Given the description of an element on the screen output the (x, y) to click on. 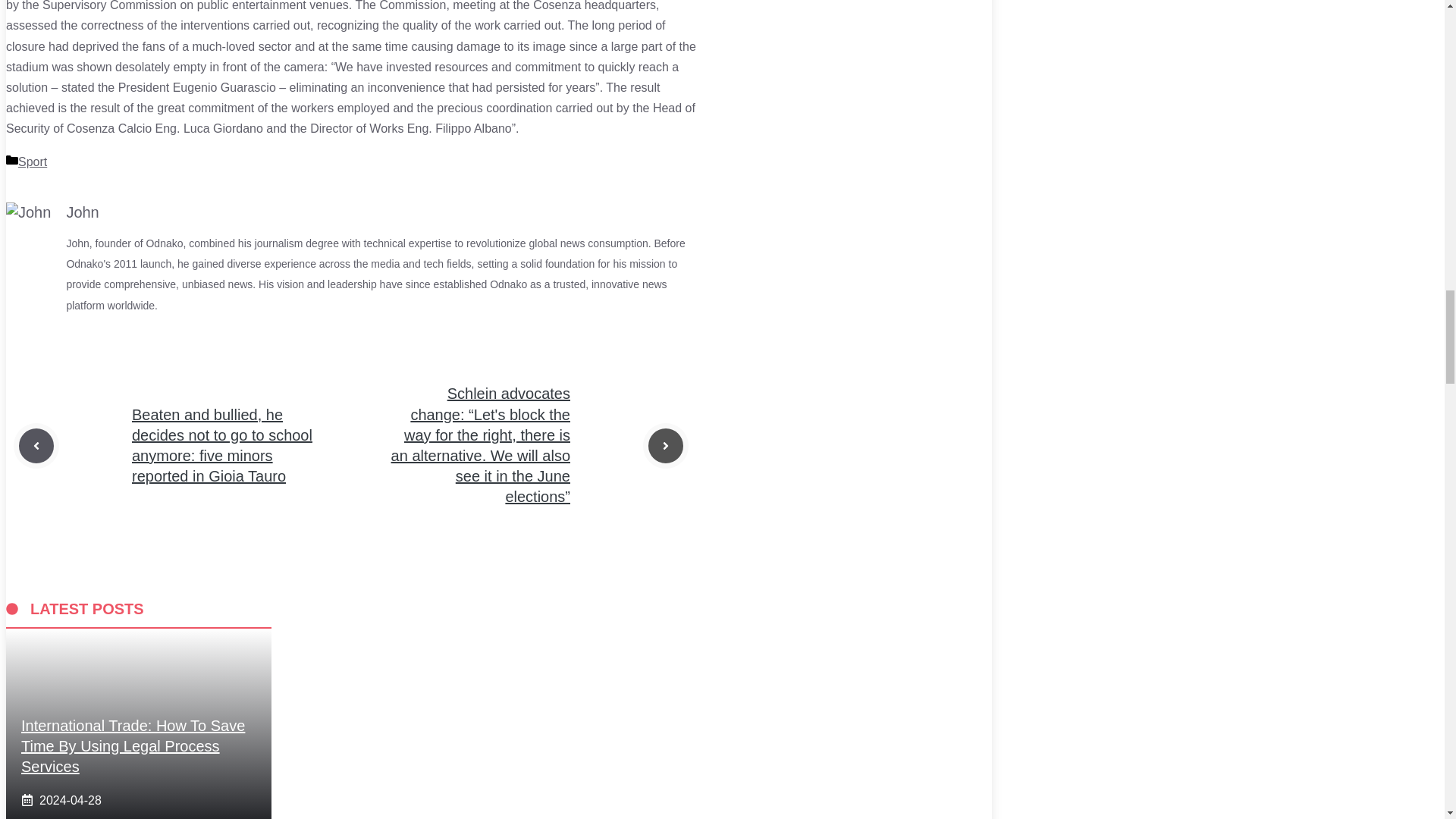
Sport (31, 161)
